Given the description of an element on the screen output the (x, y) to click on. 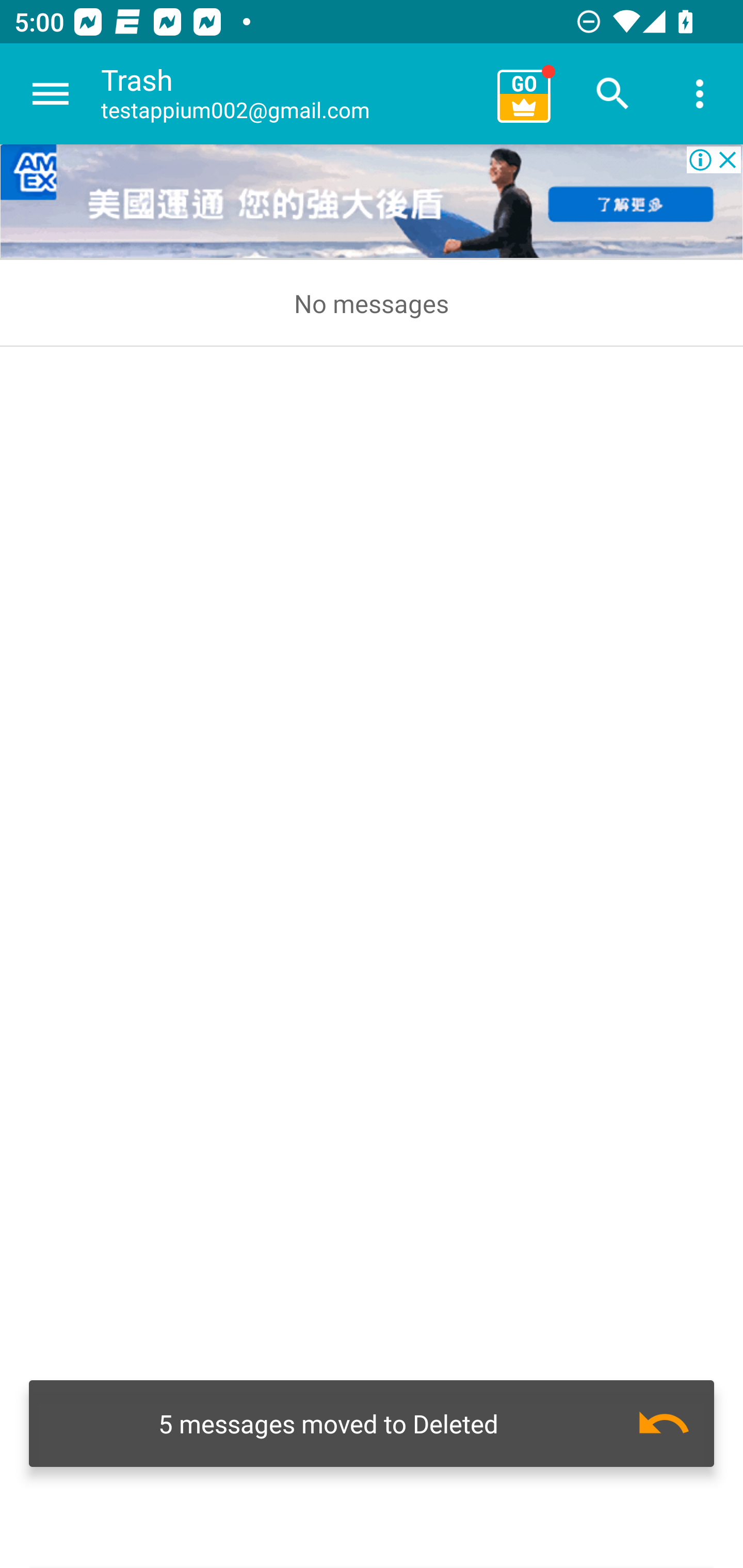
Navigate up (50, 93)
Trash testappium002@gmail.com (291, 93)
Search (612, 93)
More options (699, 93)
B31689901 (371, 202)
No messages (371, 303)
Undo 5 messages moved to Deleted (371, 1423)
